Given the description of an element on the screen output the (x, y) to click on. 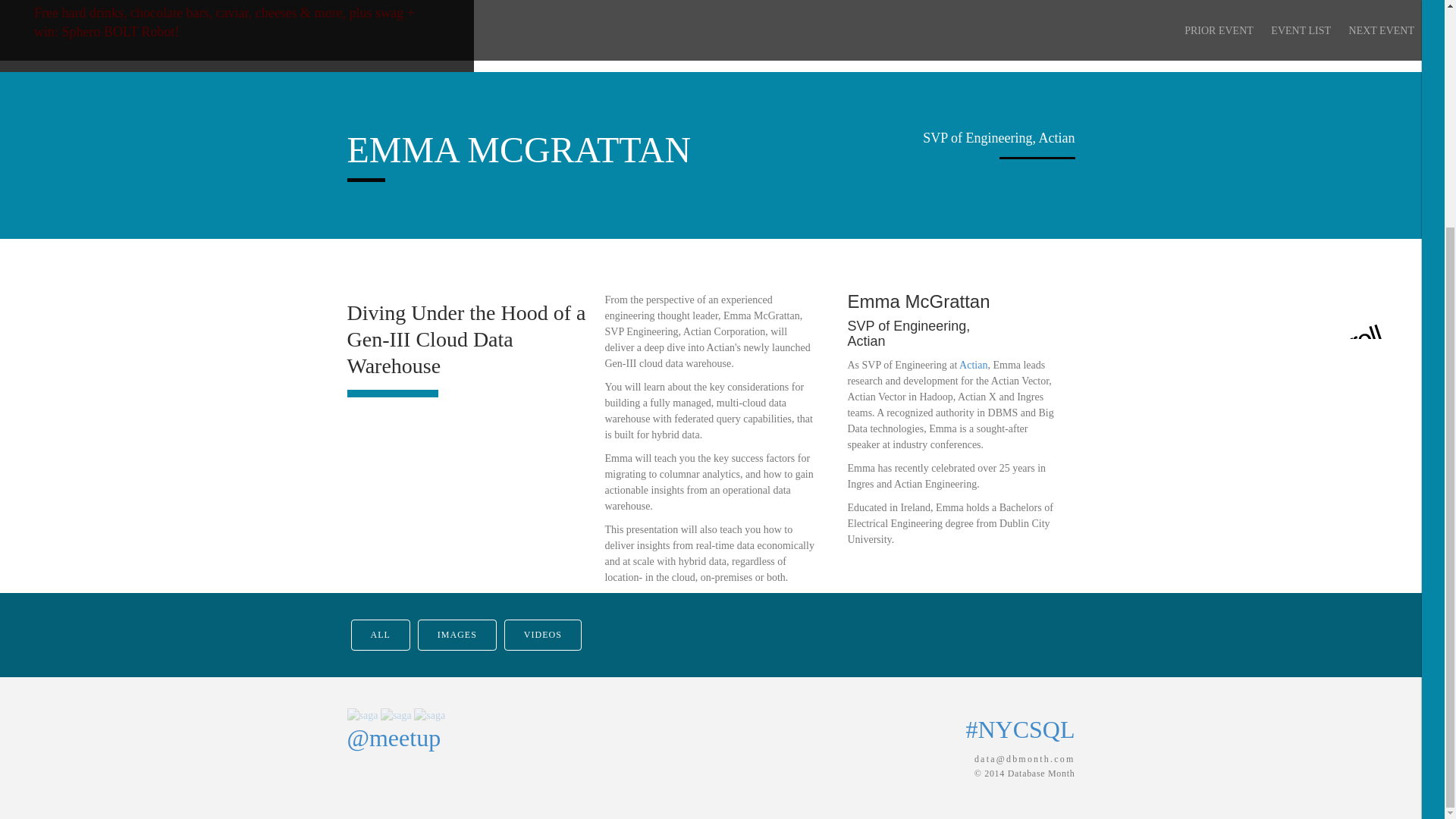
Actian (973, 365)
Actian (973, 365)
